Given the description of an element on the screen output the (x, y) to click on. 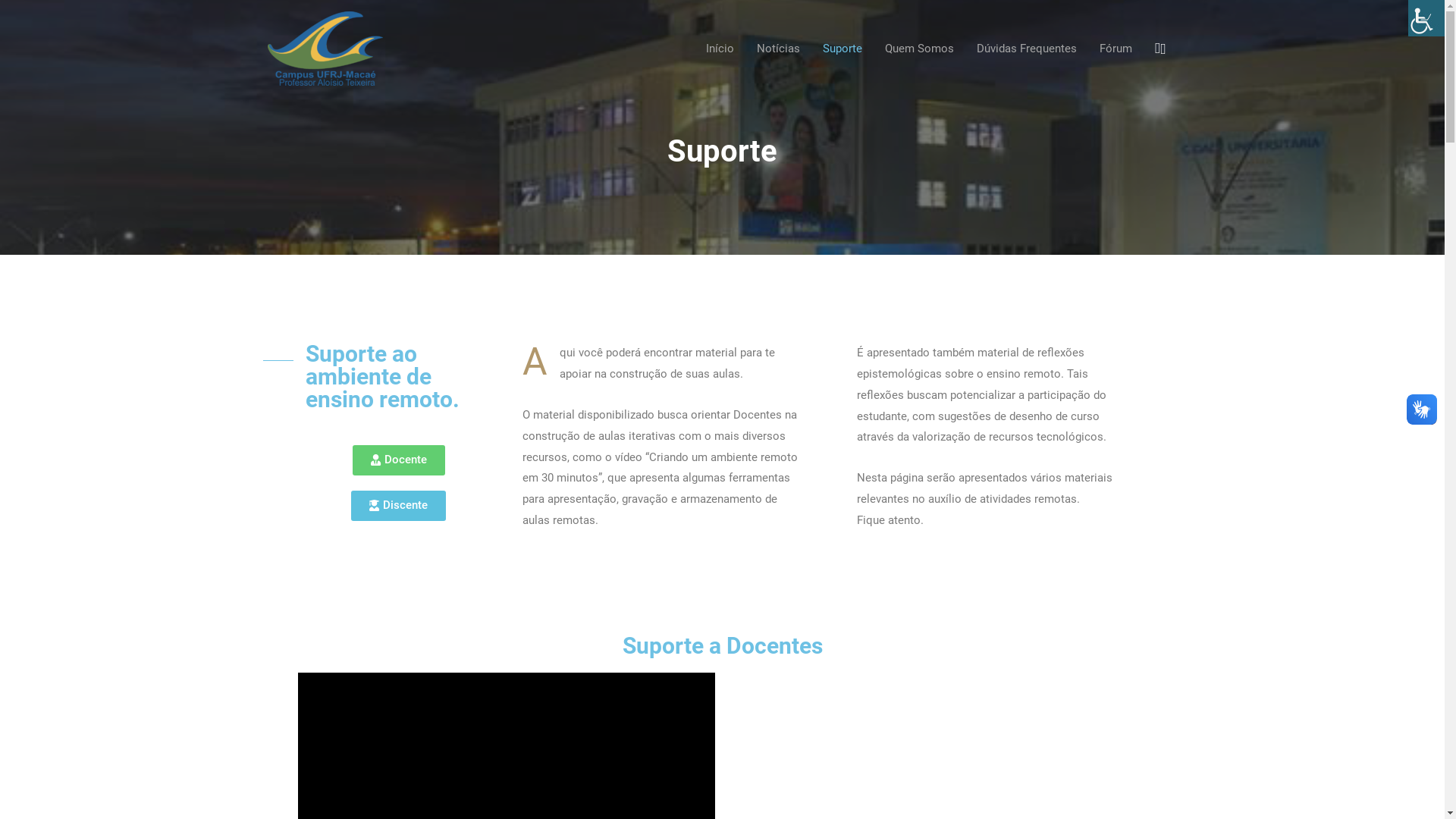
Docente Element type: text (397, 460)
Suporte Element type: text (842, 48)
Accessibility Helper sidebar Element type: hover (1426, 18)
Quem Somos Element type: text (919, 48)
Discente Element type: text (398, 505)
